Given the description of an element on the screen output the (x, y) to click on. 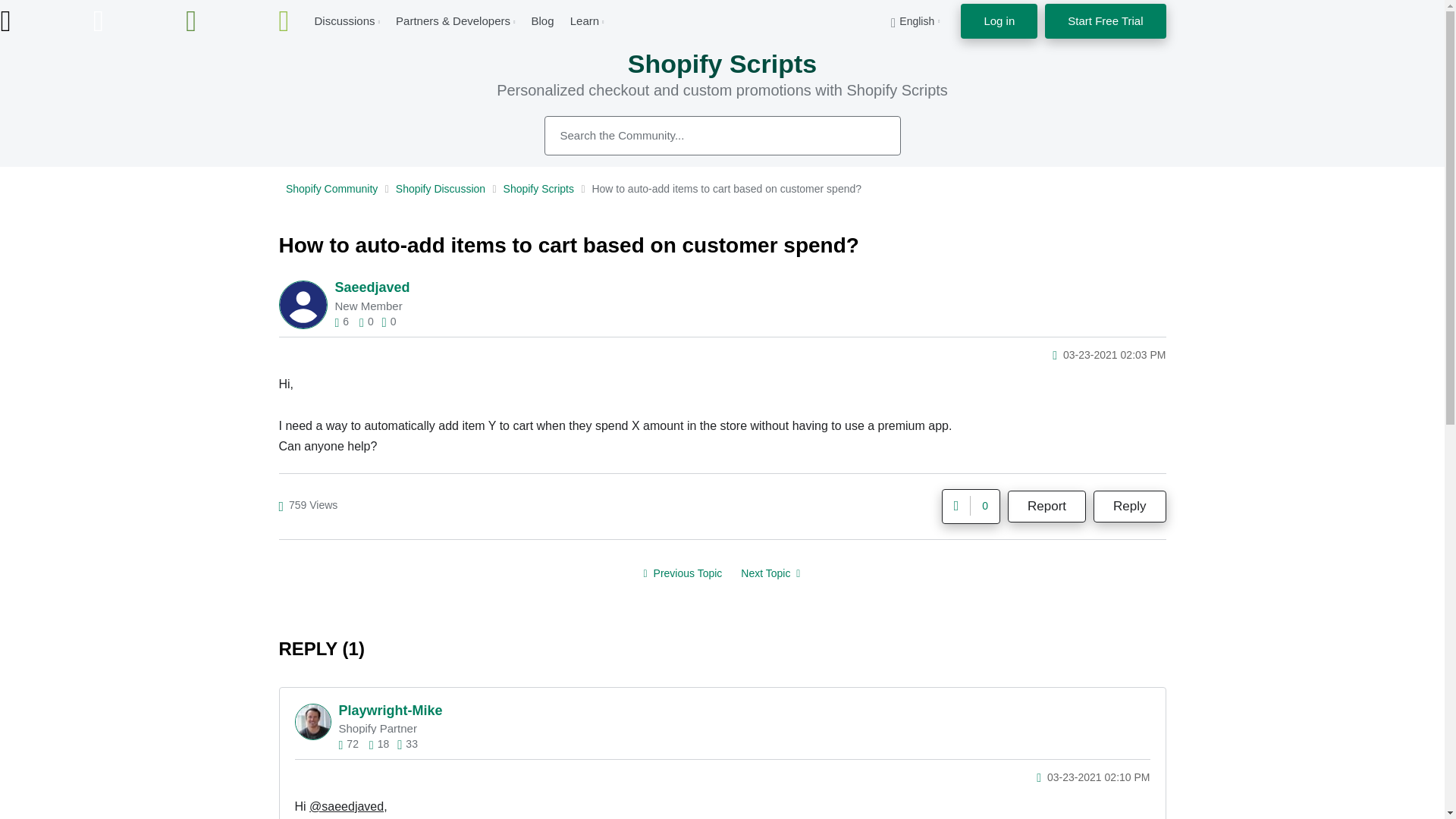
Discussions (344, 20)
Search (722, 135)
Search (872, 135)
Search (872, 135)
